Given the description of an element on the screen output the (x, y) to click on. 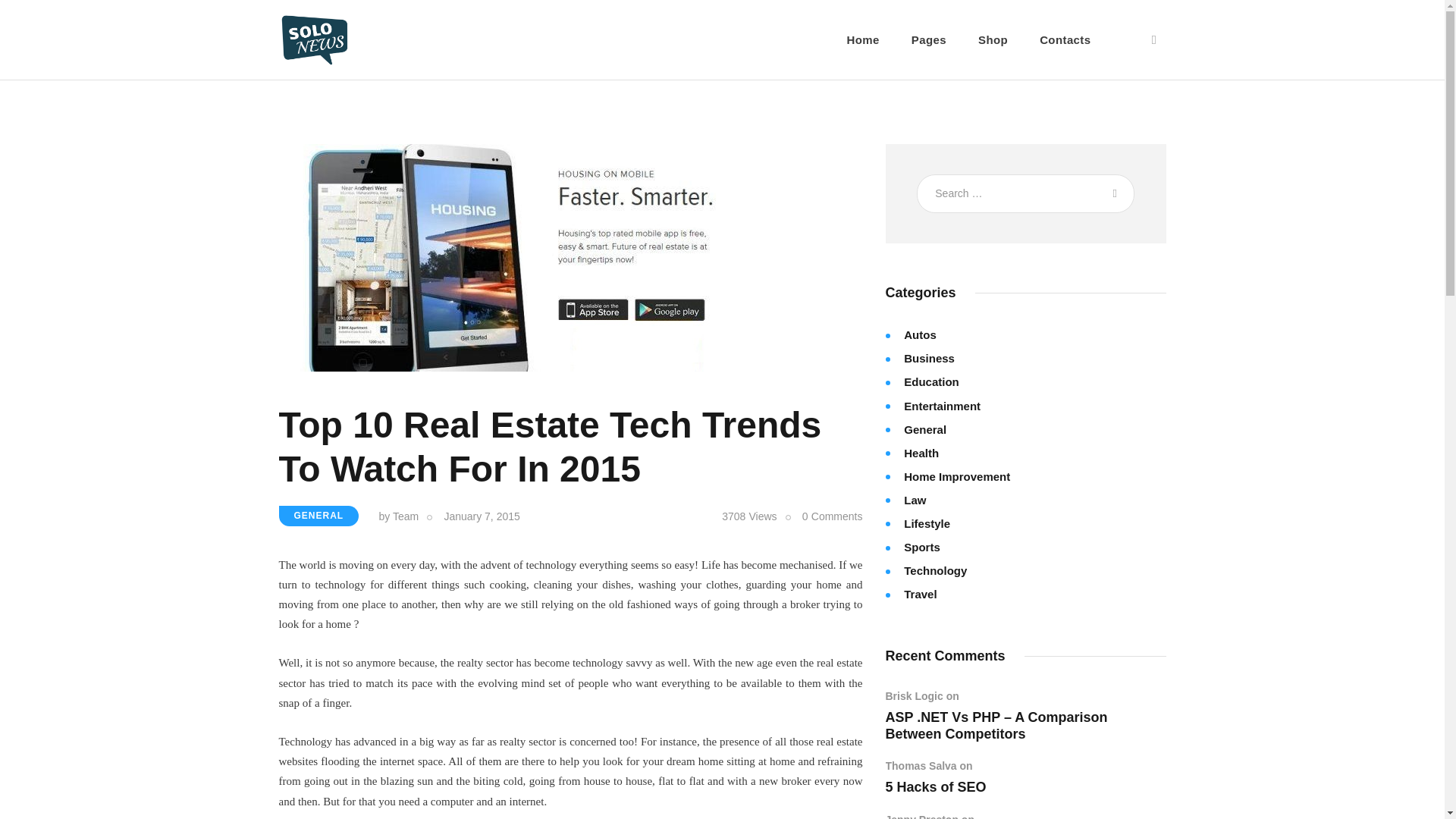
Home (863, 39)
Pages (928, 39)
Contacts (1064, 39)
Search (1111, 193)
Shop (992, 39)
Search (1111, 193)
